Given the description of an element on the screen output the (x, y) to click on. 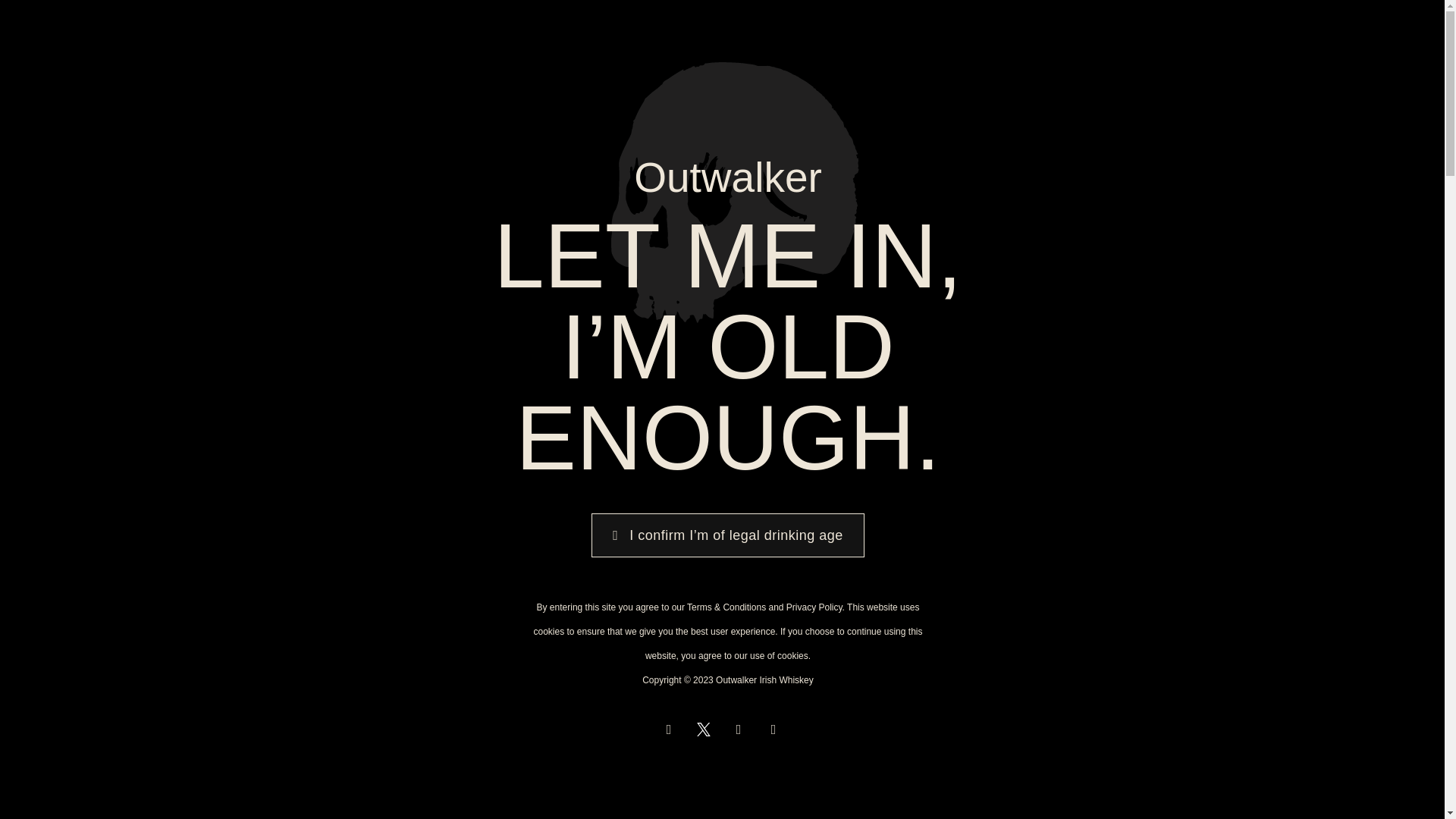
Find (1136, 34)
Facebook-f (297, 793)
Linkedin (366, 793)
Enjoy (930, 34)
Published March 4, 2024 (375, 718)
OUTWALKER (381, 36)
Meet (1071, 34)
X Icon. (332, 793)
About (1002, 34)
